Given the description of an element on the screen output the (x, y) to click on. 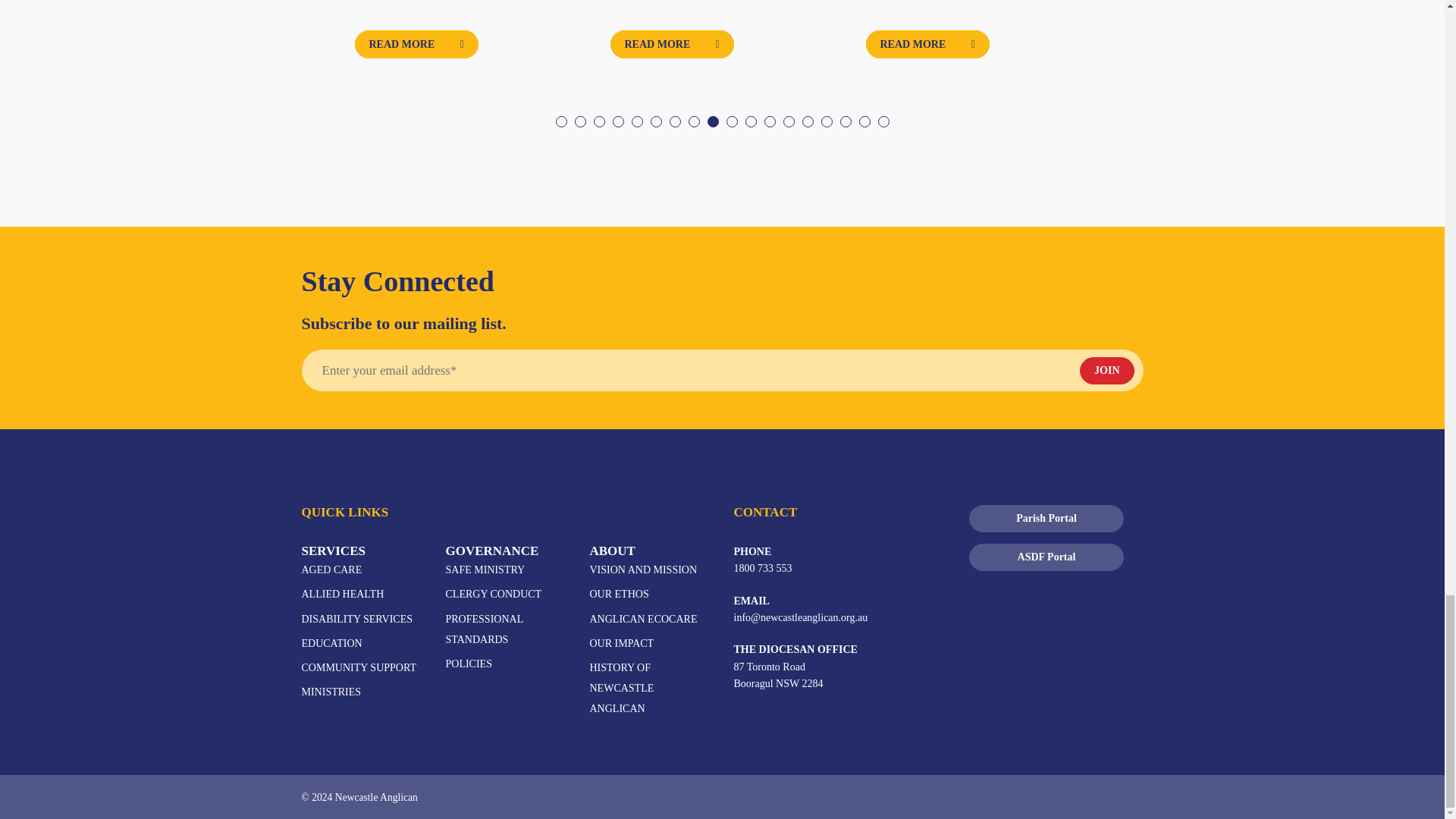
JOIN (1107, 370)
